Given the description of an element on the screen output the (x, y) to click on. 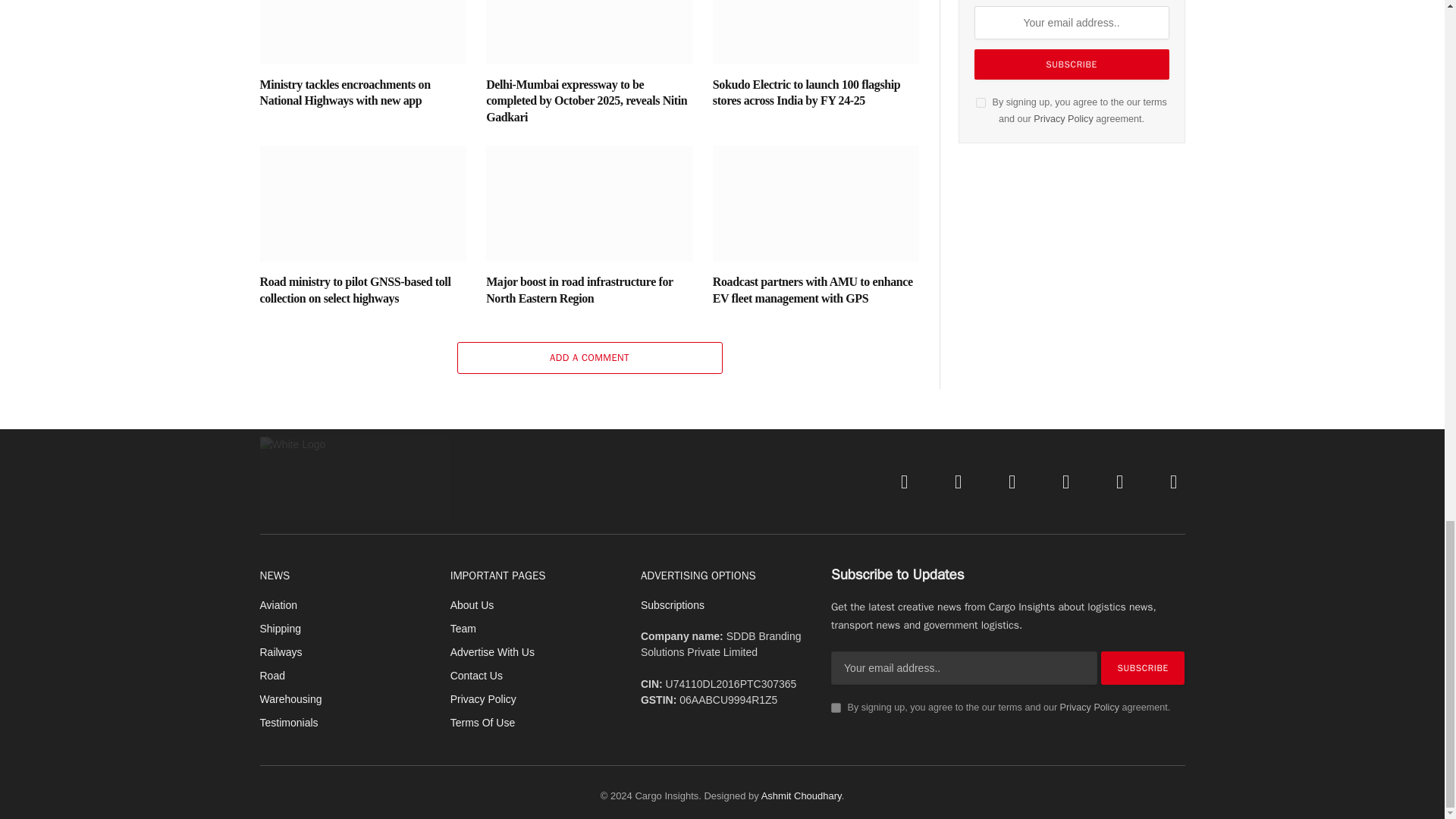
Subscribe (1142, 667)
on (980, 102)
Subscribe (1071, 64)
on (836, 707)
